Given the description of an element on the screen output the (x, y) to click on. 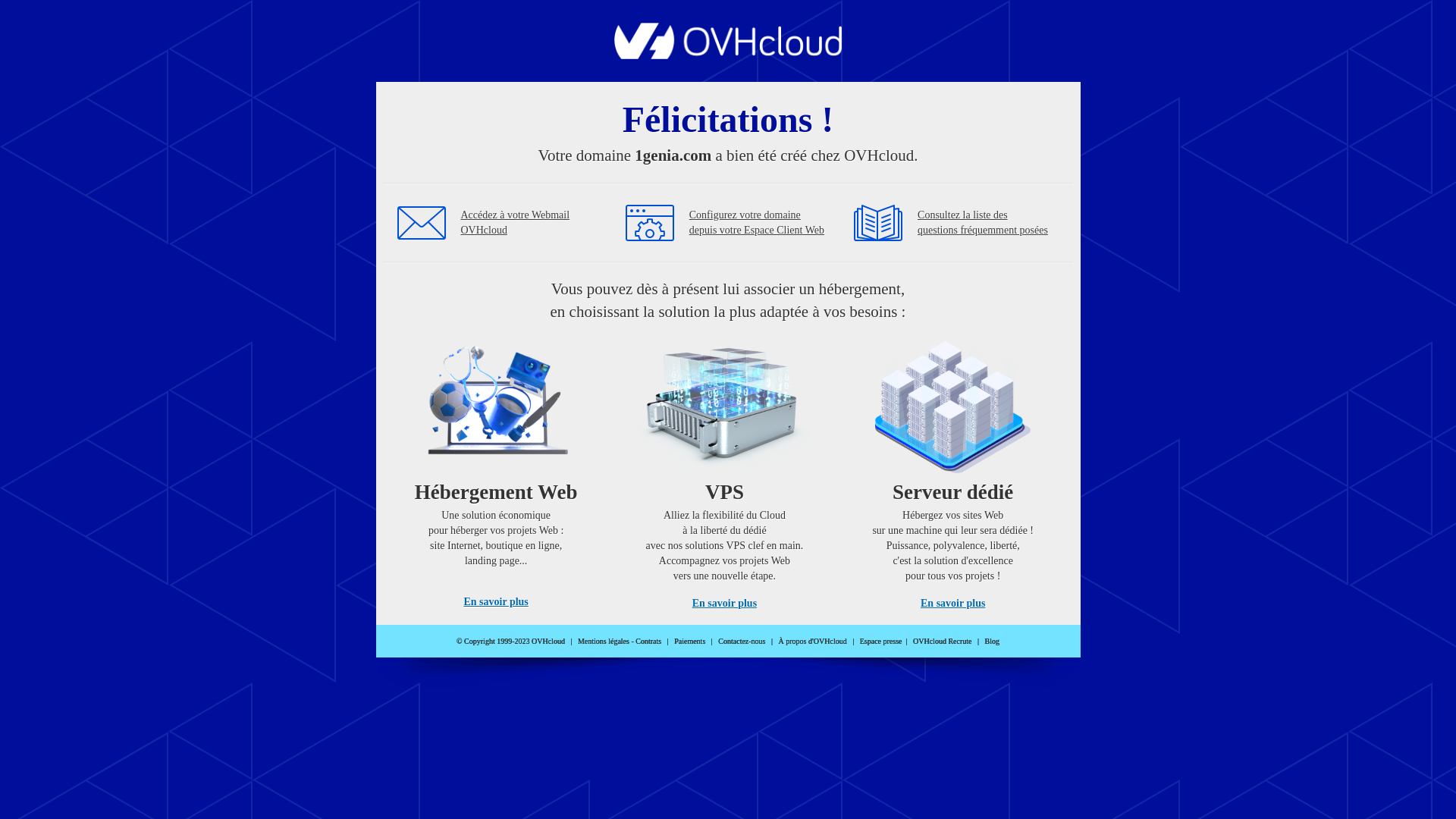
Espace presse Element type: text (880, 641)
Contactez-nous Element type: text (741, 641)
Configurez votre domaine
depuis votre Espace Client Web Element type: text (756, 222)
VPS Element type: hover (724, 469)
Paiements Element type: text (689, 641)
En savoir plus Element type: text (495, 601)
En savoir plus Element type: text (952, 602)
OVHcloud Recrute Element type: text (942, 641)
En savoir plus Element type: text (724, 602)
OVHcloud Element type: hover (727, 54)
Blog Element type: text (992, 641)
